Given the description of an element on the screen output the (x, y) to click on. 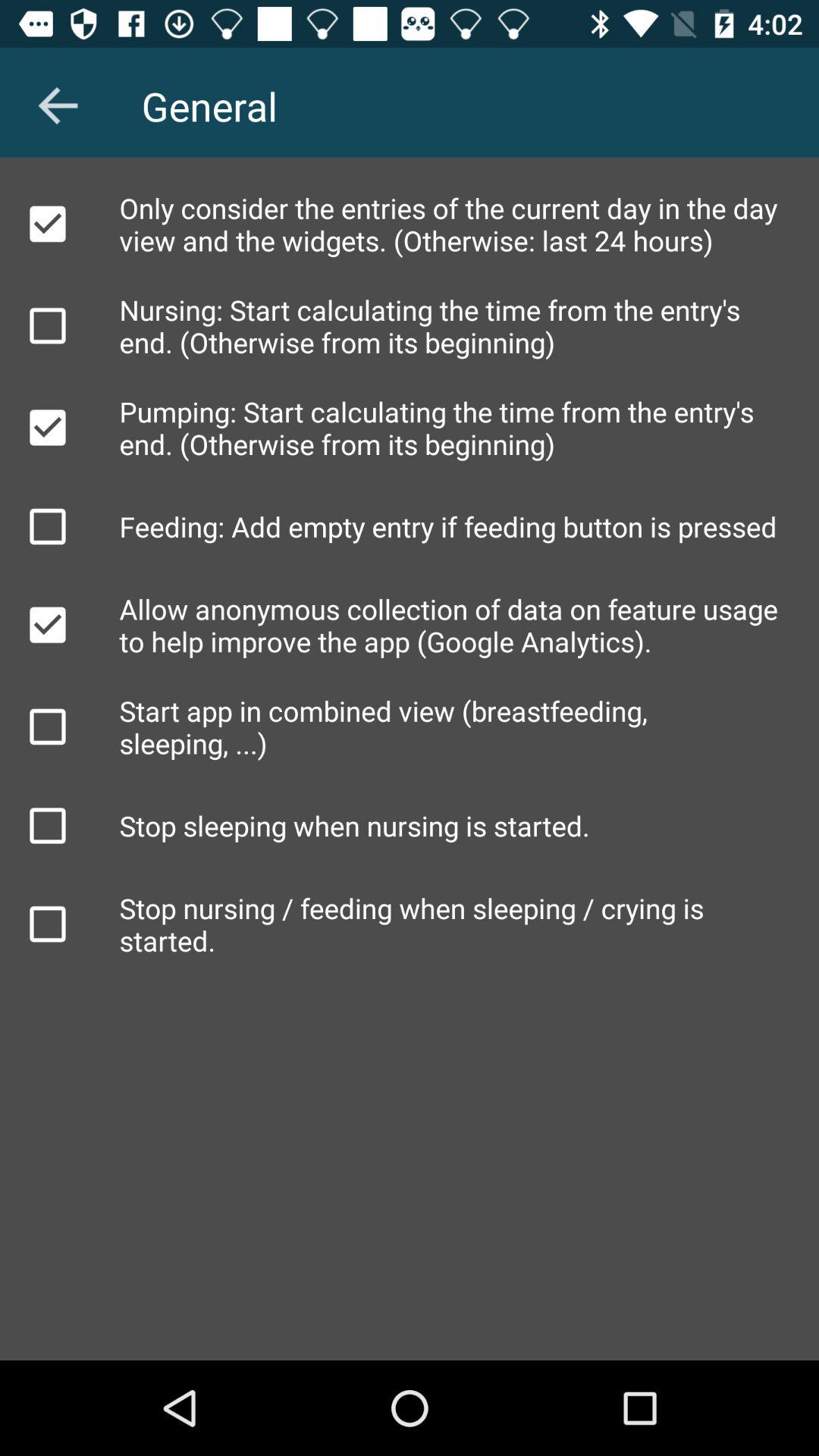
switch nursing option (47, 325)
